Given the description of an element on the screen output the (x, y) to click on. 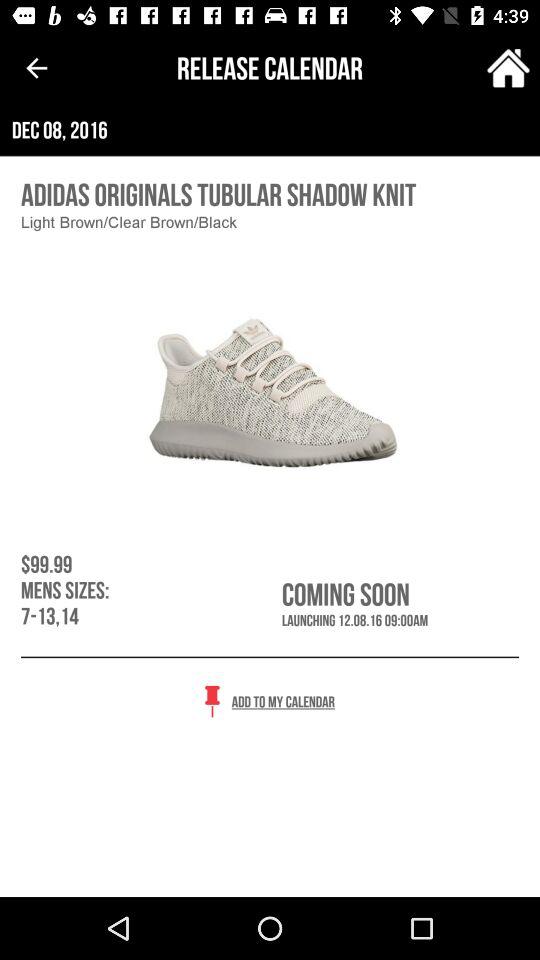
click the icon to the left of the release calendar item (36, 68)
